Given the description of an element on the screen output the (x, y) to click on. 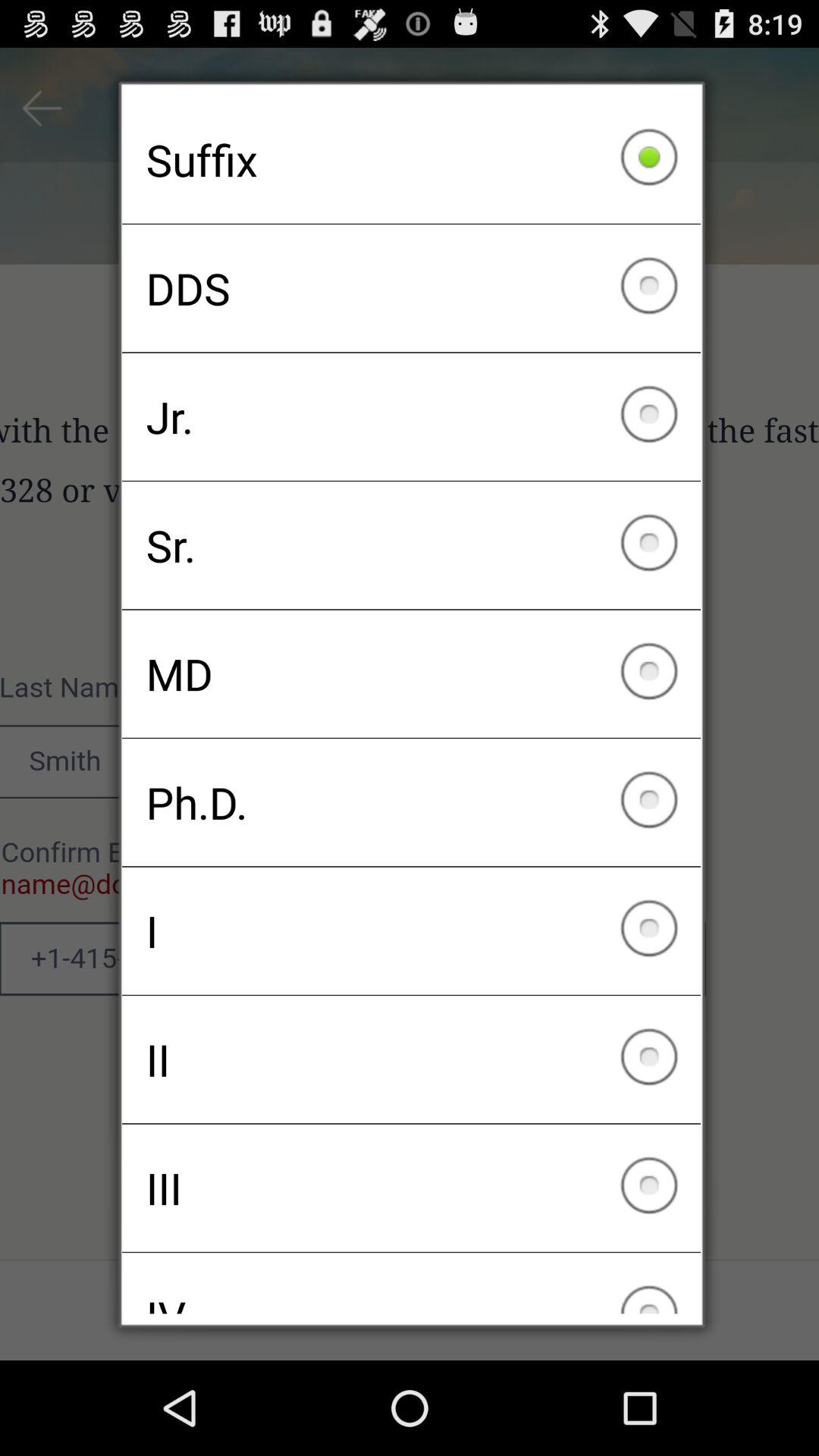
select icon below md icon (411, 802)
